Given the description of an element on the screen output the (x, y) to click on. 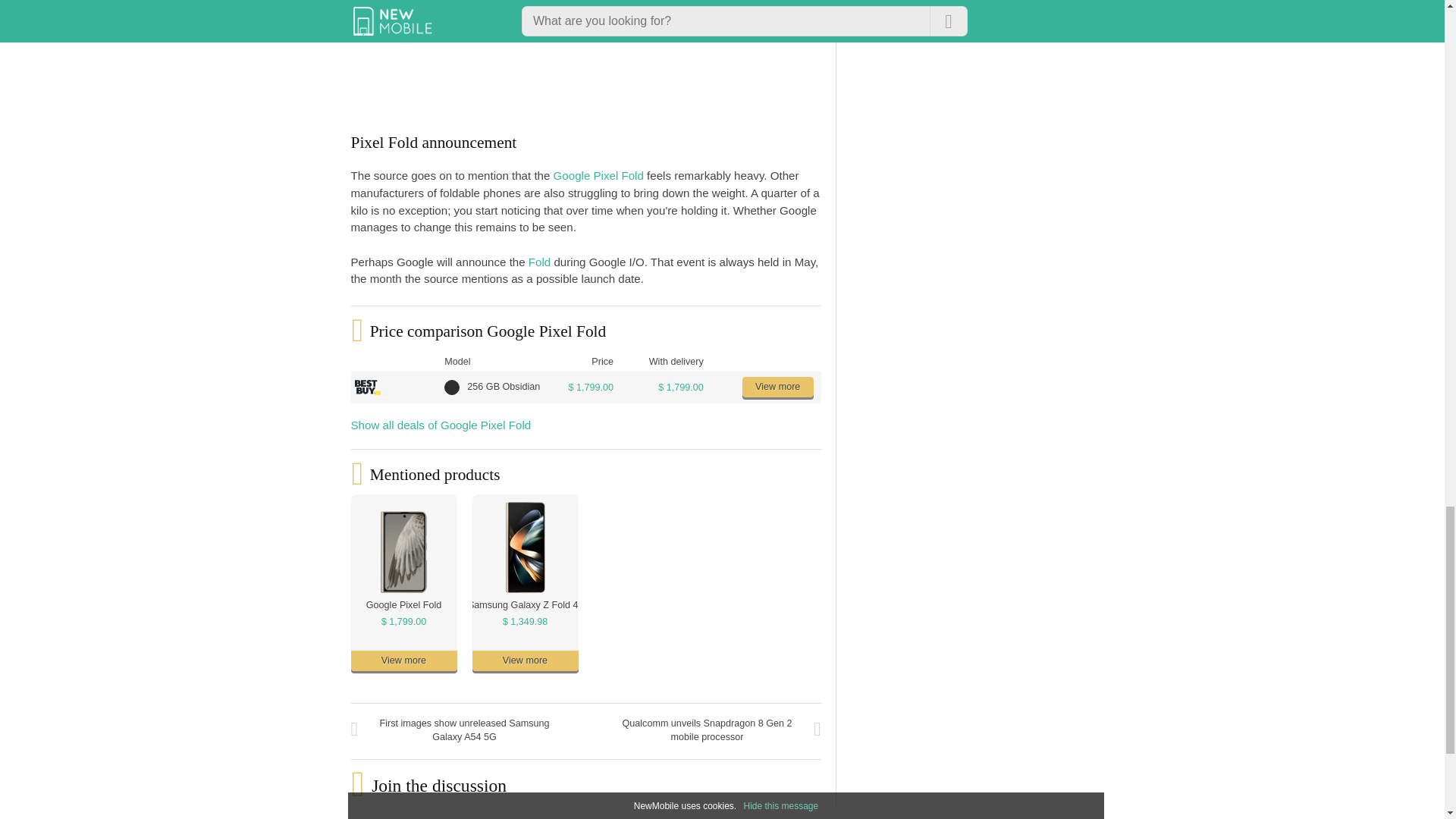
View more (524, 660)
Samsung Galaxy Z Fold 4 (522, 604)
Show complete list with prices of Google Pixel Fold (403, 621)
First images show unreleased Samsung Galaxy A54 5G (464, 730)
Google Pixel Fold (598, 174)
Advertisement (805, 67)
Fold (539, 261)
View more (777, 386)
Show all deals of Google Pixel Fold (440, 424)
Google Pixel Fold (403, 604)
Qualcomm unveils Snapdragon 8 Gen 2 mobile processor (706, 730)
Google Pixel Fold (403, 604)
Show complete list with prices of Samsung Galaxy Z Fold 4 (525, 621)
View more (403, 660)
Samsung Galaxy Z Fold 4 (522, 604)
